Given the description of an element on the screen output the (x, y) to click on. 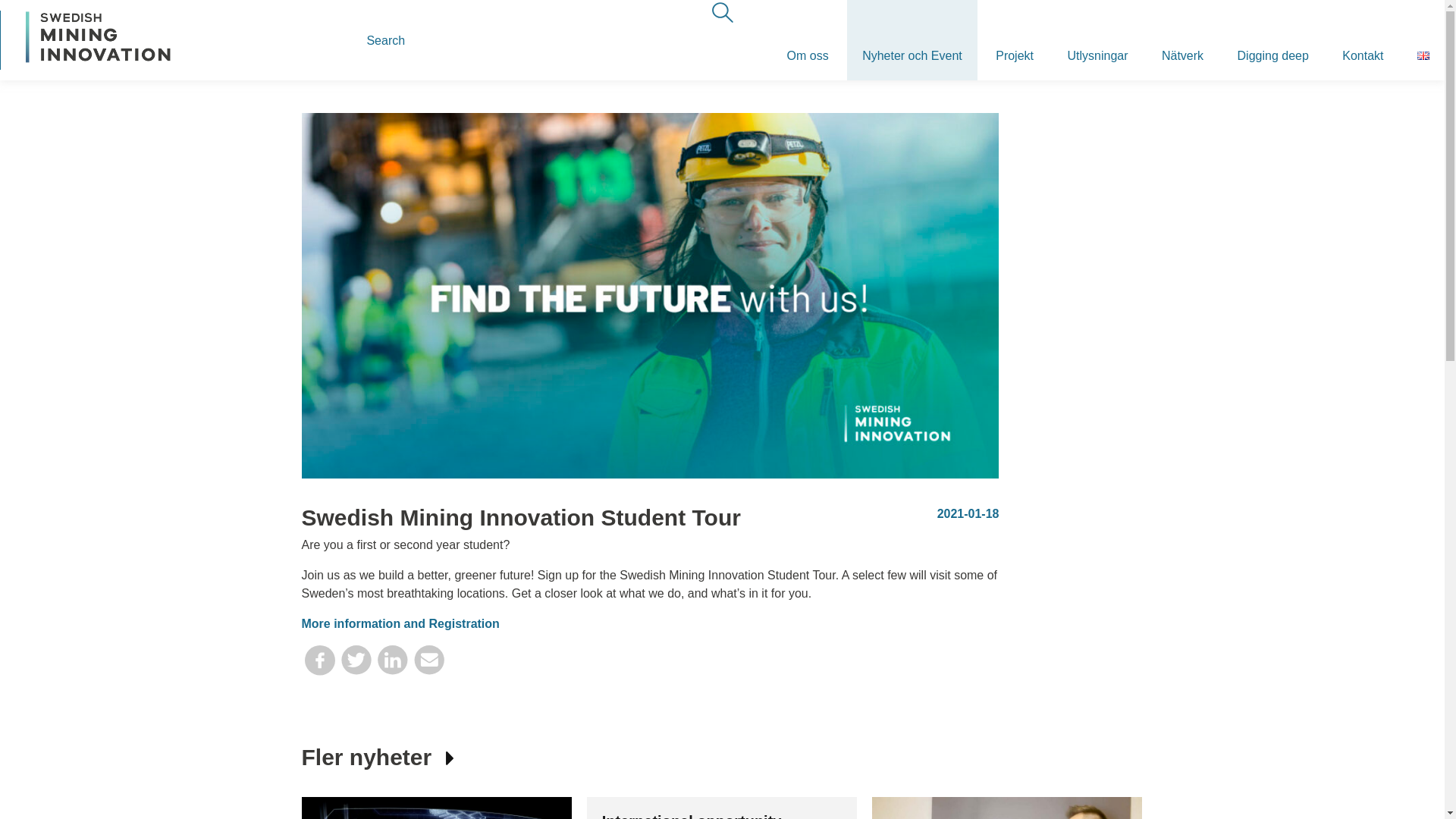
Twitter (355, 665)
Om oss (807, 40)
Nyheter och Event (911, 40)
Email (428, 665)
Digging deep (1273, 40)
Utlysningar (1096, 40)
